Given the description of an element on the screen output the (x, y) to click on. 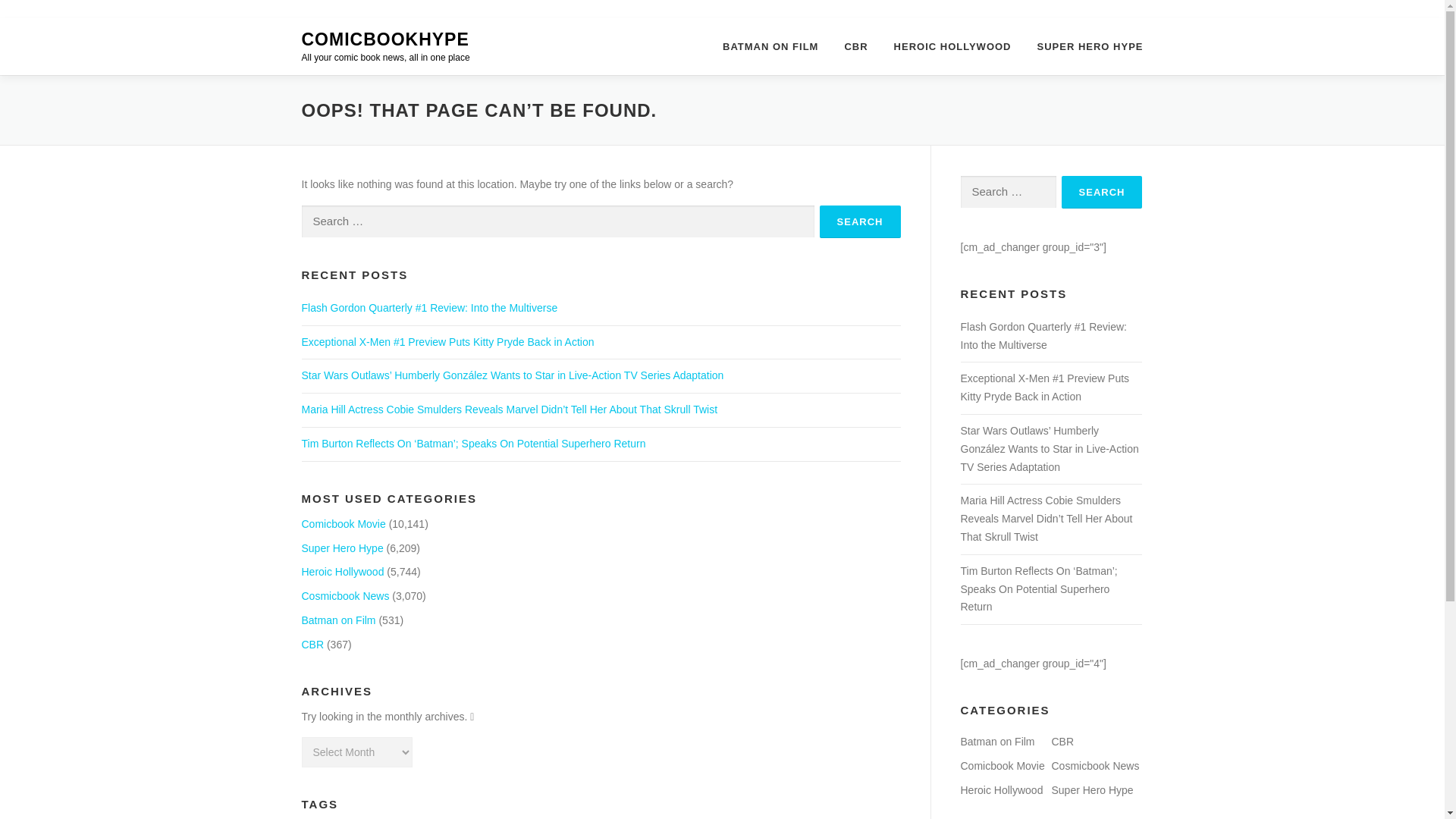
SUPER HERO HYPE (1083, 46)
Cosmicbook News (345, 595)
Comicbook Movie (343, 523)
Batman on Film (338, 620)
Skip to content (34, 27)
Search (860, 221)
HEROIC HOLLYWOOD (952, 46)
Heroic Hollywood (342, 571)
CBR (312, 644)
Search (1101, 192)
